Given the description of an element on the screen output the (x, y) to click on. 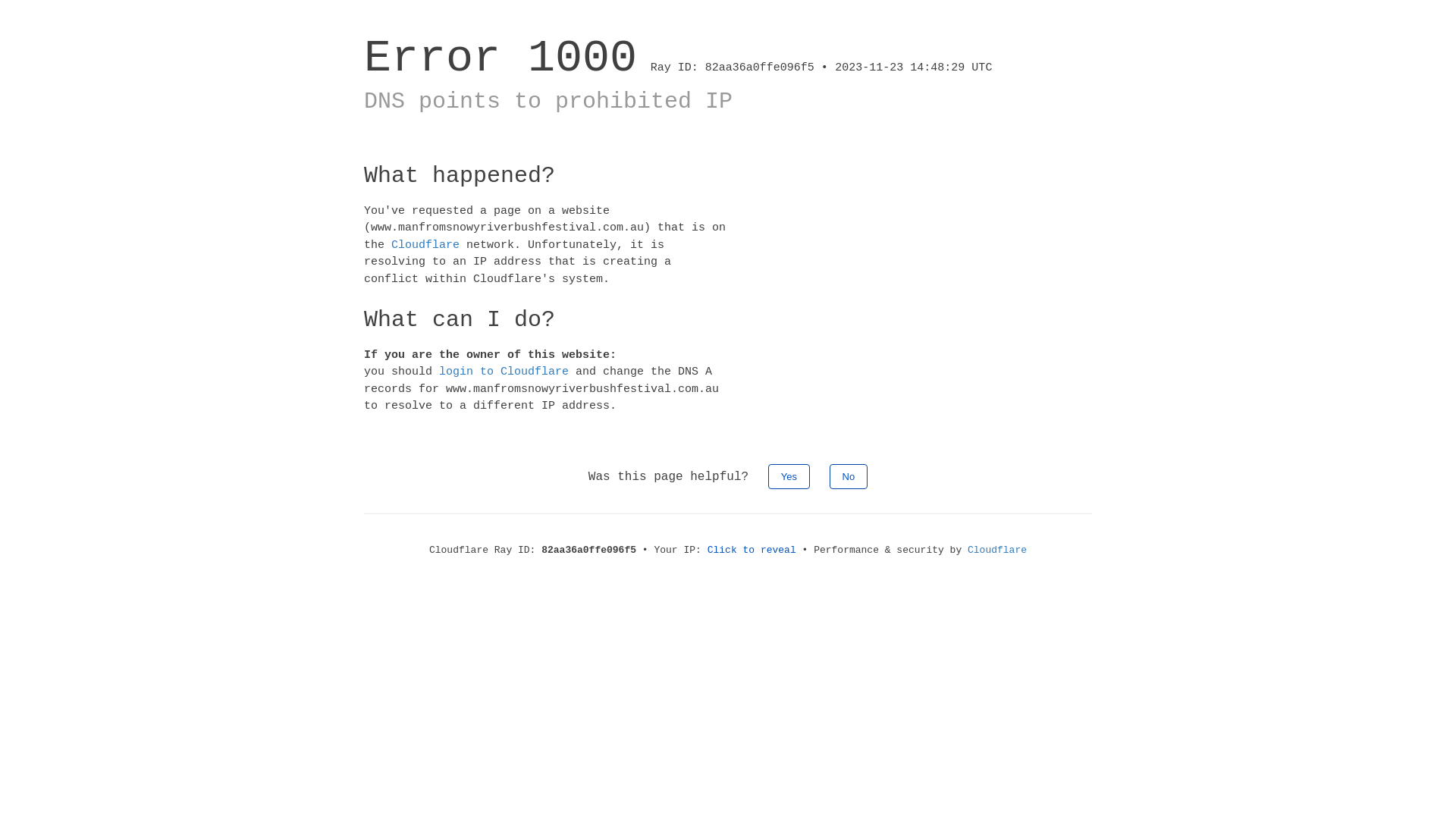
No Element type: text (848, 476)
login to Cloudflare Element type: text (503, 371)
Cloudflare Element type: text (425, 244)
Yes Element type: text (788, 476)
Click to reveal Element type: text (751, 549)
Cloudflare Element type: text (996, 549)
